Given the description of an element on the screen output the (x, y) to click on. 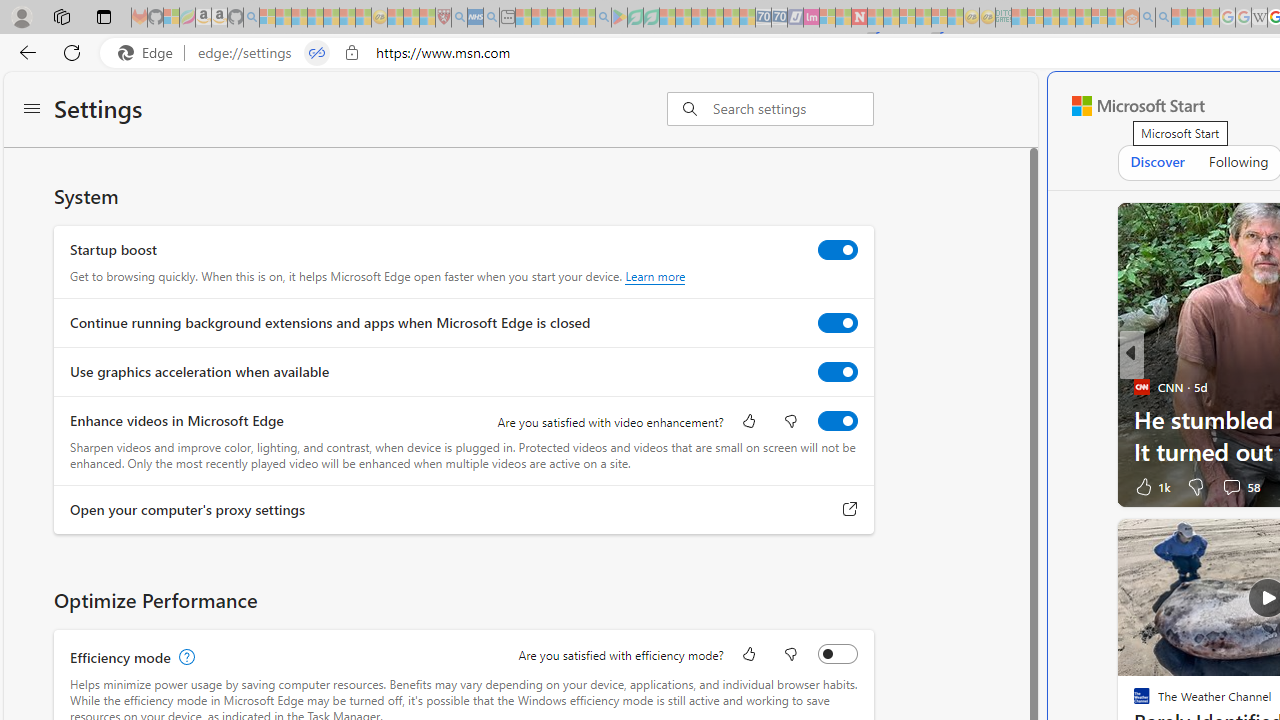
Pets - MSN - Sleeping (571, 17)
14 Common Myths Debunked By Scientific Facts - Sleeping (891, 17)
View comments 142 Comment (1243, 486)
Recipes - MSN - Sleeping (395, 17)
7 signs that someone likes you, according to a psychologist (814, 435)
Discover (1156, 161)
Edge (150, 53)
Open your computer's proxy settings (849, 509)
utah sues federal government - Search - Sleeping (491, 17)
